Given the description of an element on the screen output the (x, y) to click on. 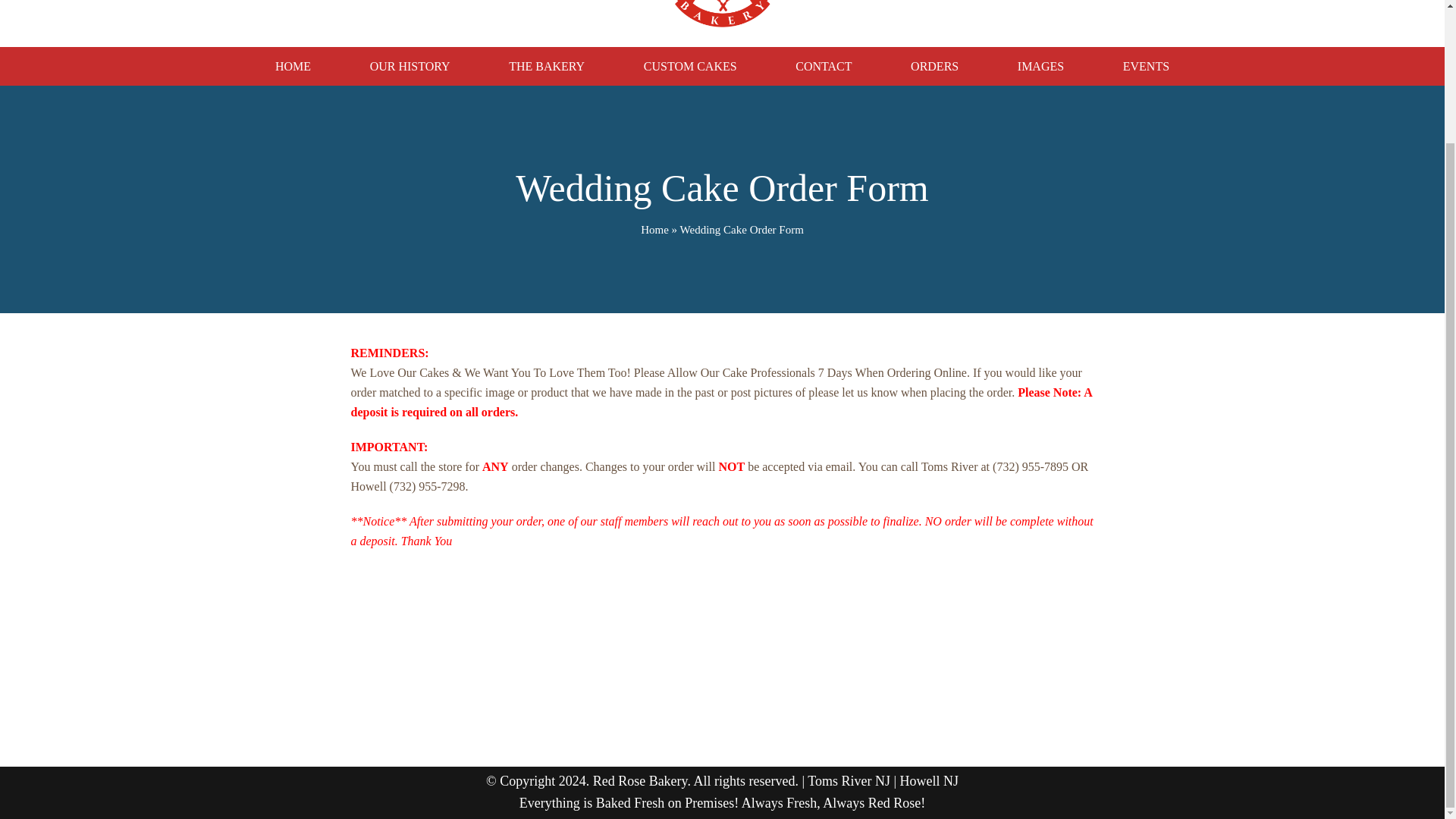
HOME (293, 66)
OUR HISTORY (410, 66)
CUSTOM CAKES (689, 66)
CONTACT (823, 66)
THE BAKERY (546, 66)
